Given the description of an element on the screen output the (x, y) to click on. 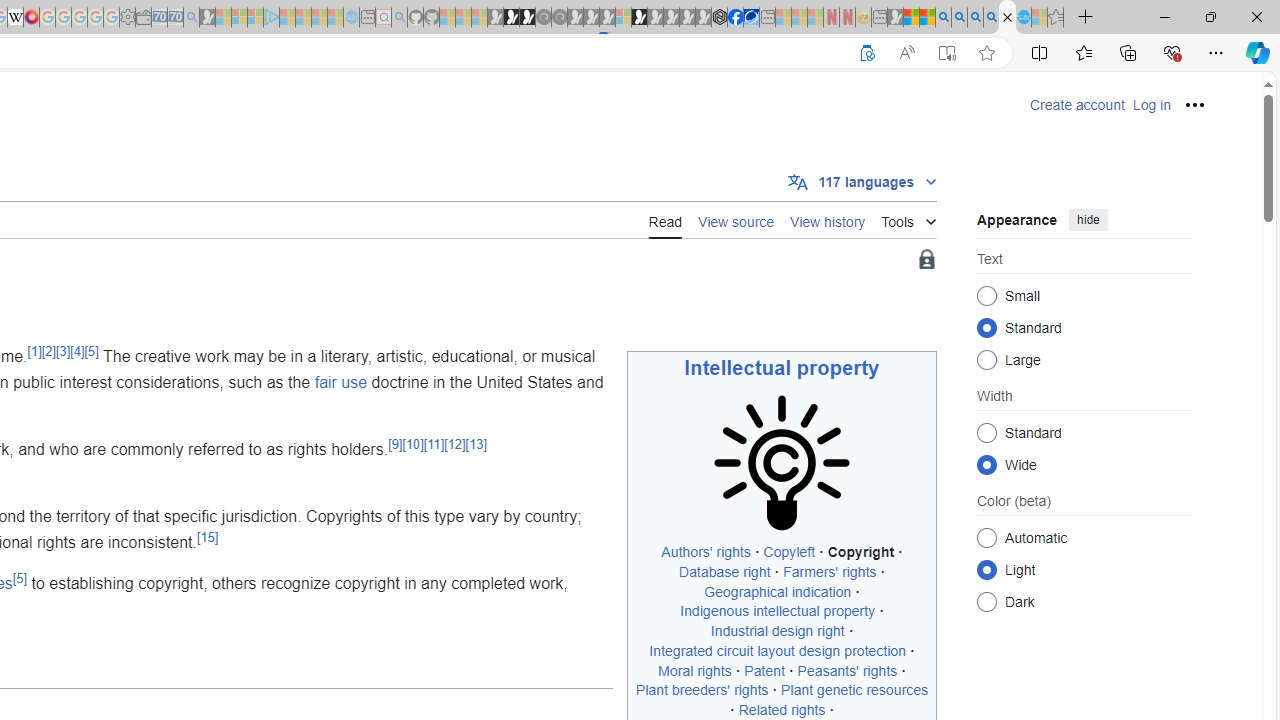
Indigenous intellectual property (777, 611)
Peasants' rights (847, 669)
Create account (1077, 105)
[3] (63, 350)
[1] (34, 350)
Intellectual property (781, 368)
[9] (395, 444)
[15] (207, 537)
MediaWiki (31, 17)
